Given the description of an element on the screen output the (x, y) to click on. 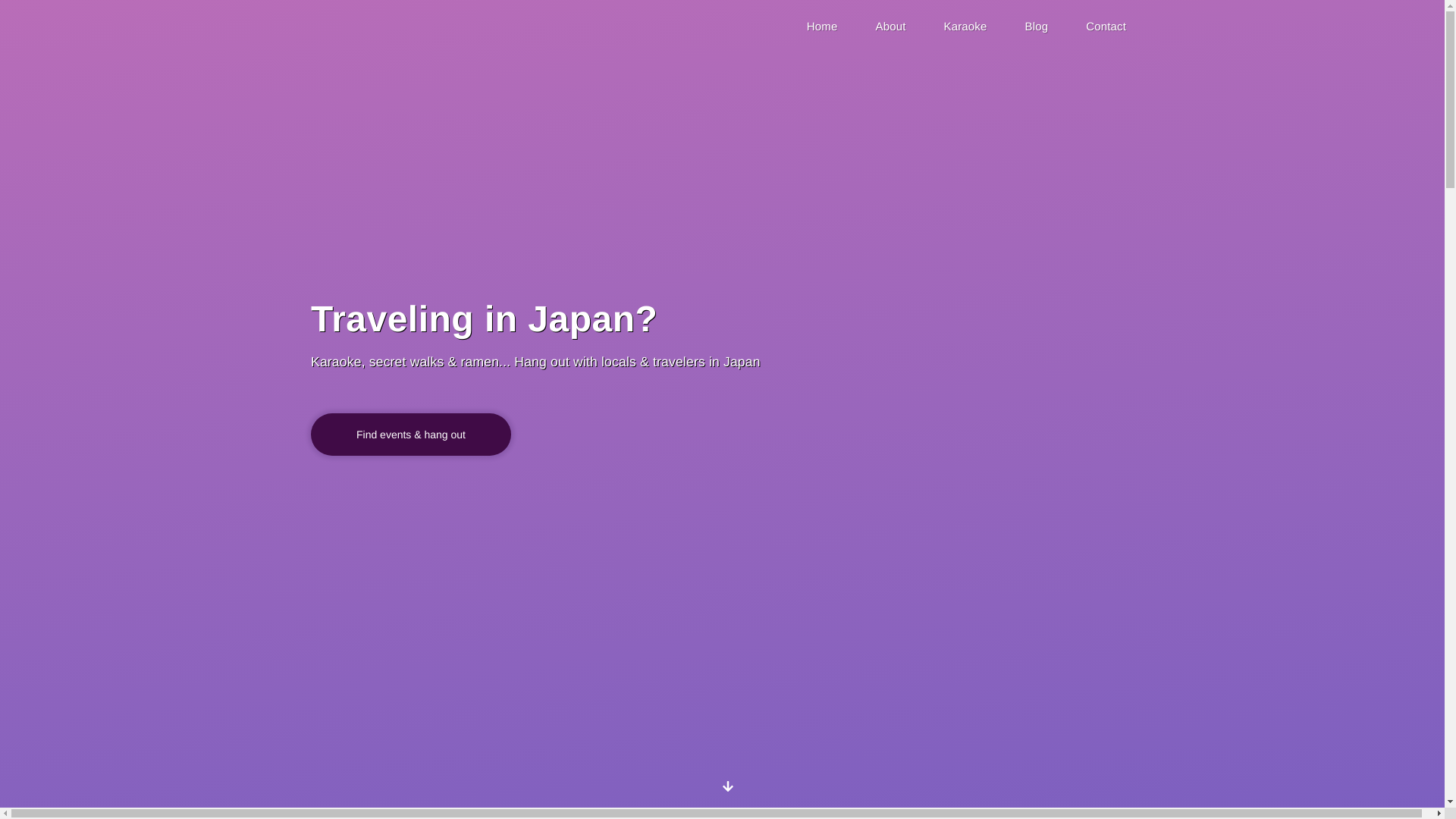
Contact (1105, 25)
About (890, 25)
Karaoke (965, 25)
Home (821, 25)
Blog (1036, 25)
